Given the description of an element on the screen output the (x, y) to click on. 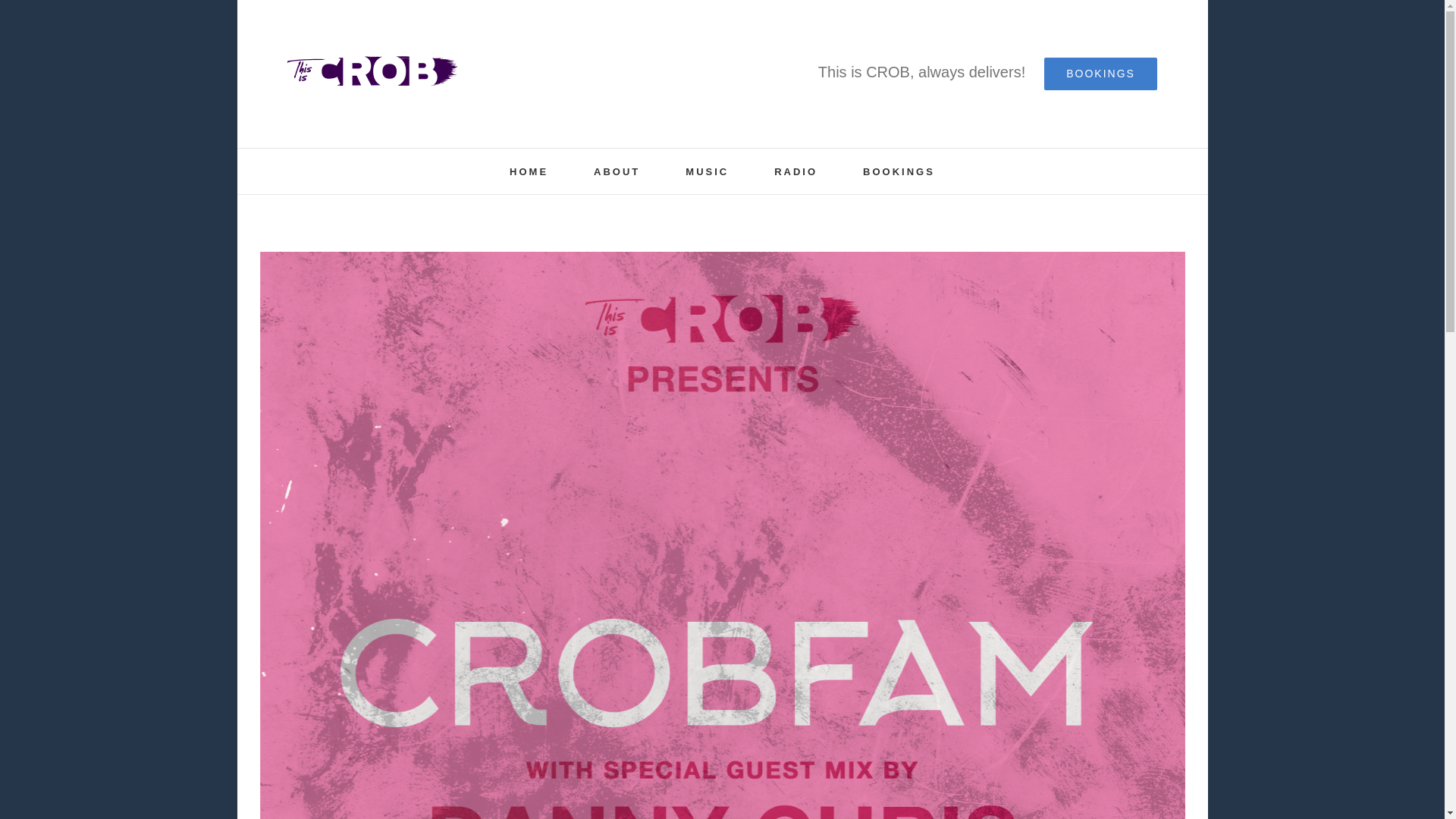
ABOUT (617, 171)
RADIO (795, 171)
BOOKINGS (898, 171)
MUSIC (707, 171)
BOOKINGS (1100, 73)
